Given the description of an element on the screen output the (x, y) to click on. 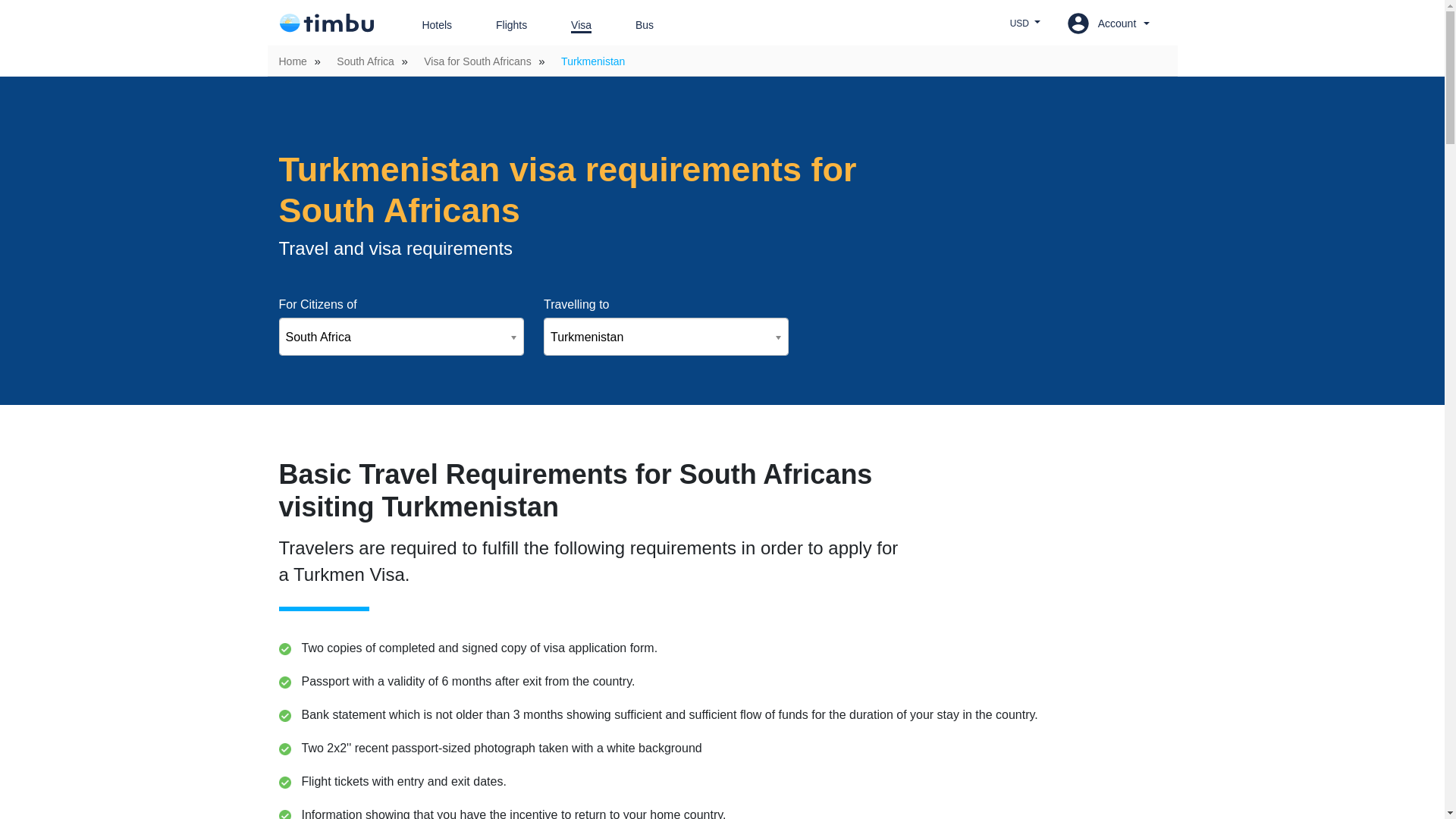
Bus (632, 24)
Timbu logo (326, 22)
Hotels (424, 24)
Timbu logo (326, 22)
Visa (569, 24)
USD (1025, 22)
Flights (500, 24)
